Given the description of an element on the screen output the (x, y) to click on. 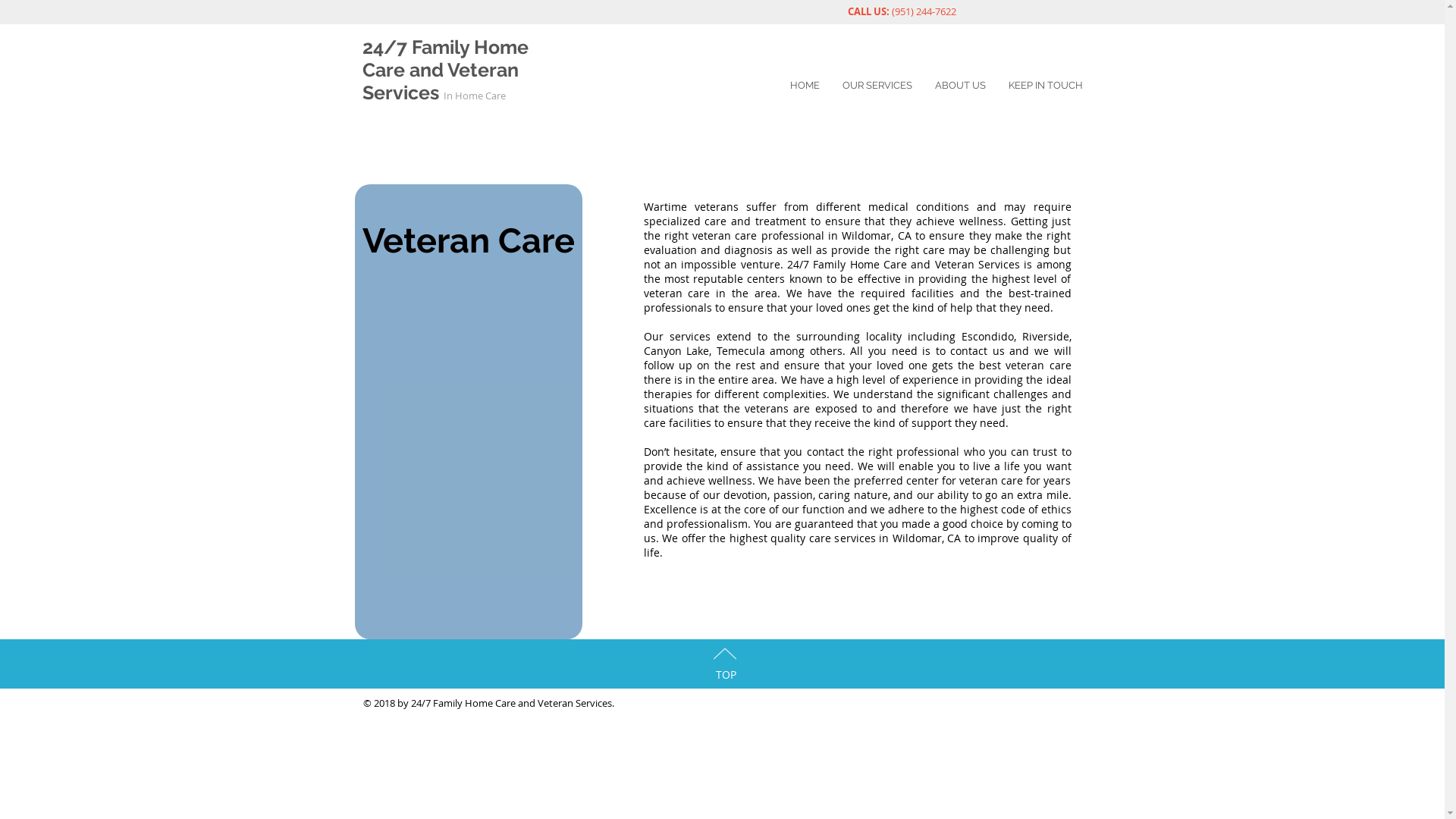
HOME Element type: text (804, 85)
OUR SERVICES Element type: text (877, 85)
TWIPLA (Visitor Analytics) Element type: hover (1215, 139)
ABOUT US Element type: text (960, 85)
24/7 Family Home Care and Veteran Services In Home Care Element type: text (445, 69)
TOP Element type: text (725, 674)
KEEP IN TOUCH Element type: text (1044, 85)
